Given the description of an element on the screen output the (x, y) to click on. 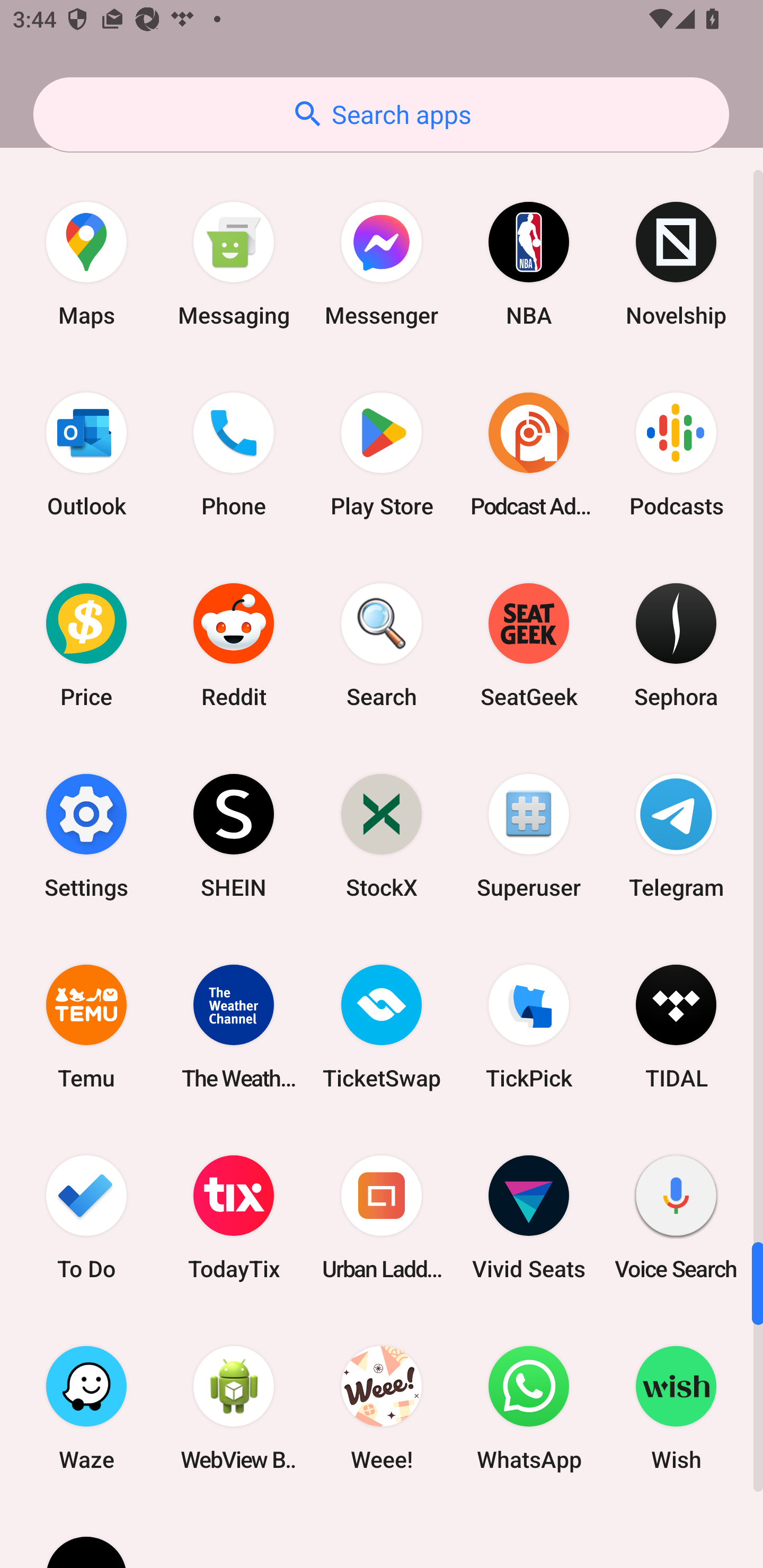
To Do (86, 1217)
